Given the description of an element on the screen output the (x, y) to click on. 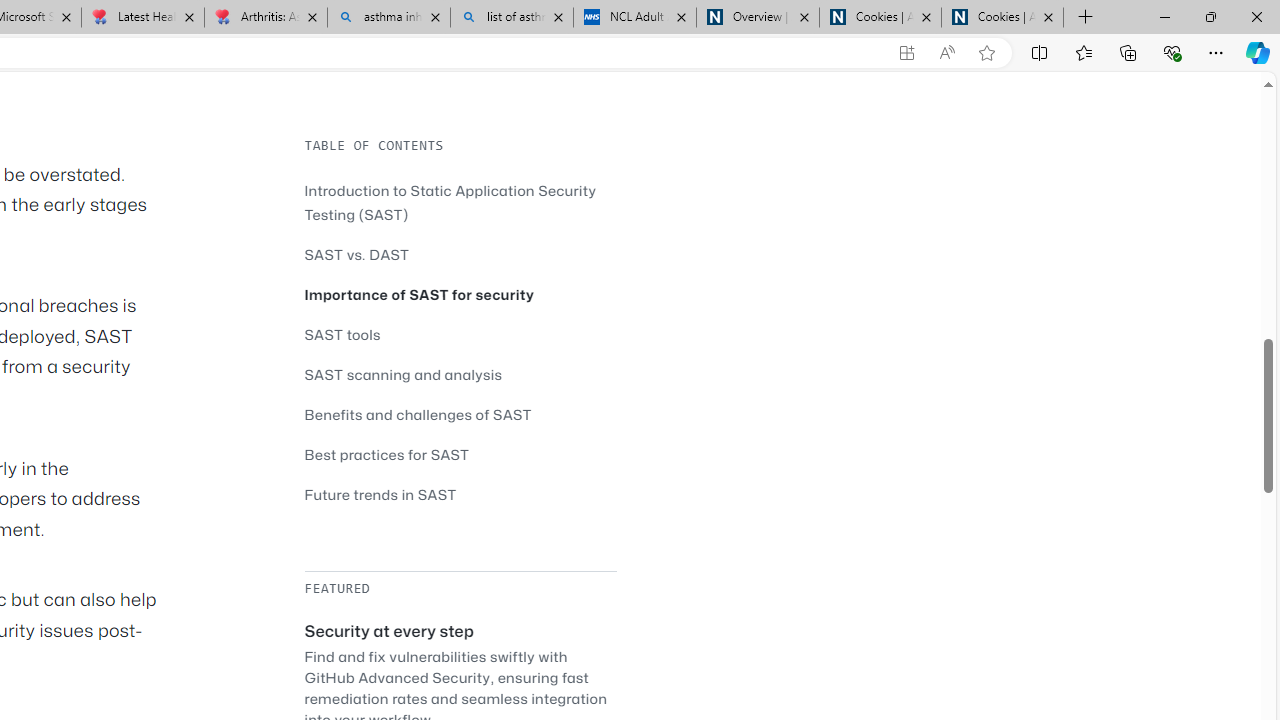
SAST scanning and analysis (403, 374)
list of asthma inhalers uk - Search (511, 17)
asthma inhaler - Search (388, 17)
Future trends in SAST (460, 493)
App available. Install GitHub (906, 53)
Benefits and challenges of SAST (460, 413)
Best practices for SAST (460, 454)
SAST vs. DAST (356, 254)
Arthritis: Ask Health Professionals (265, 17)
